Given the description of an element on the screen output the (x, y) to click on. 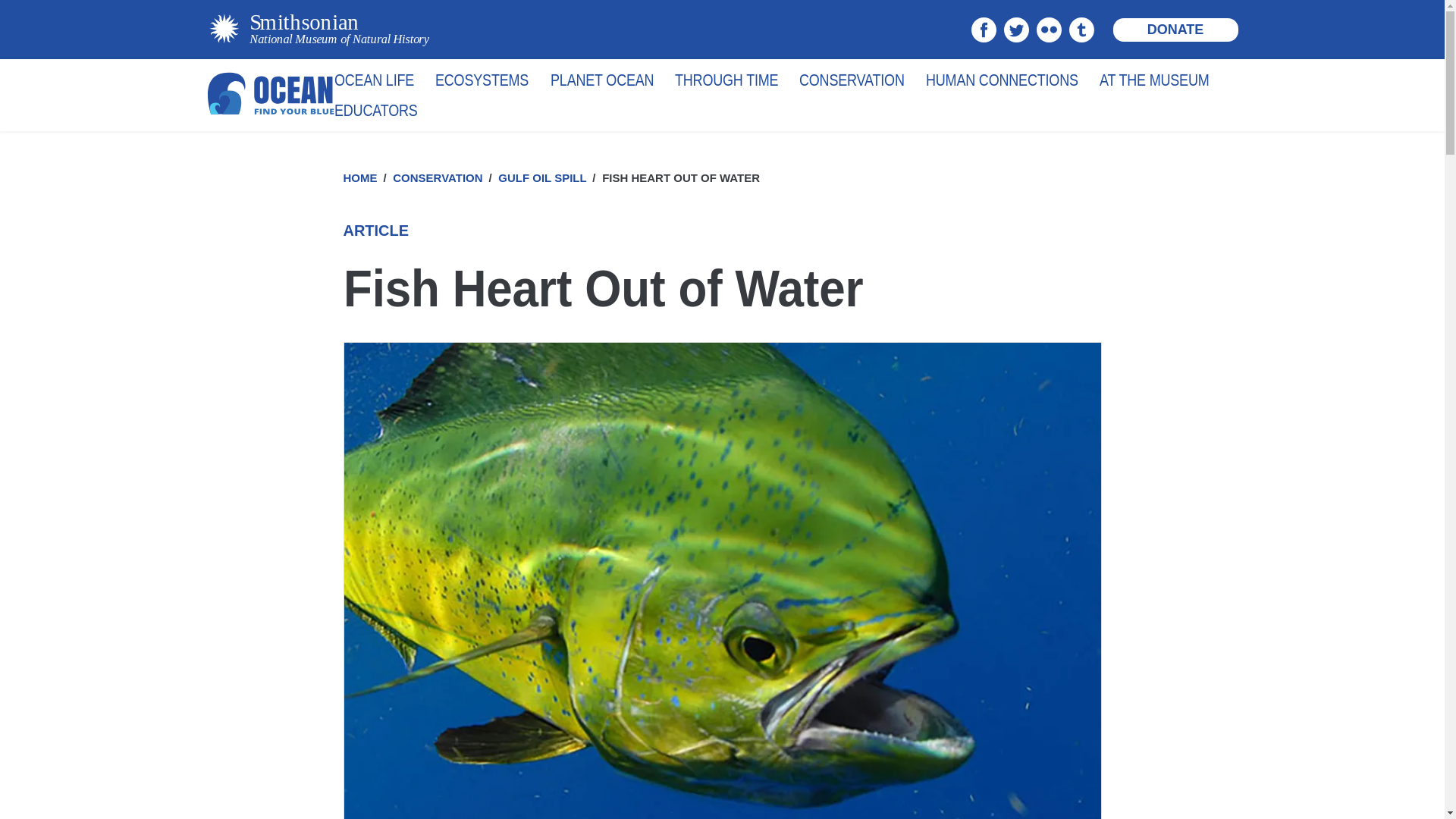
Smithsonian Institution (317, 29)
Smithsonian Ocean (270, 94)
